Given the description of an element on the screen output the (x, y) to click on. 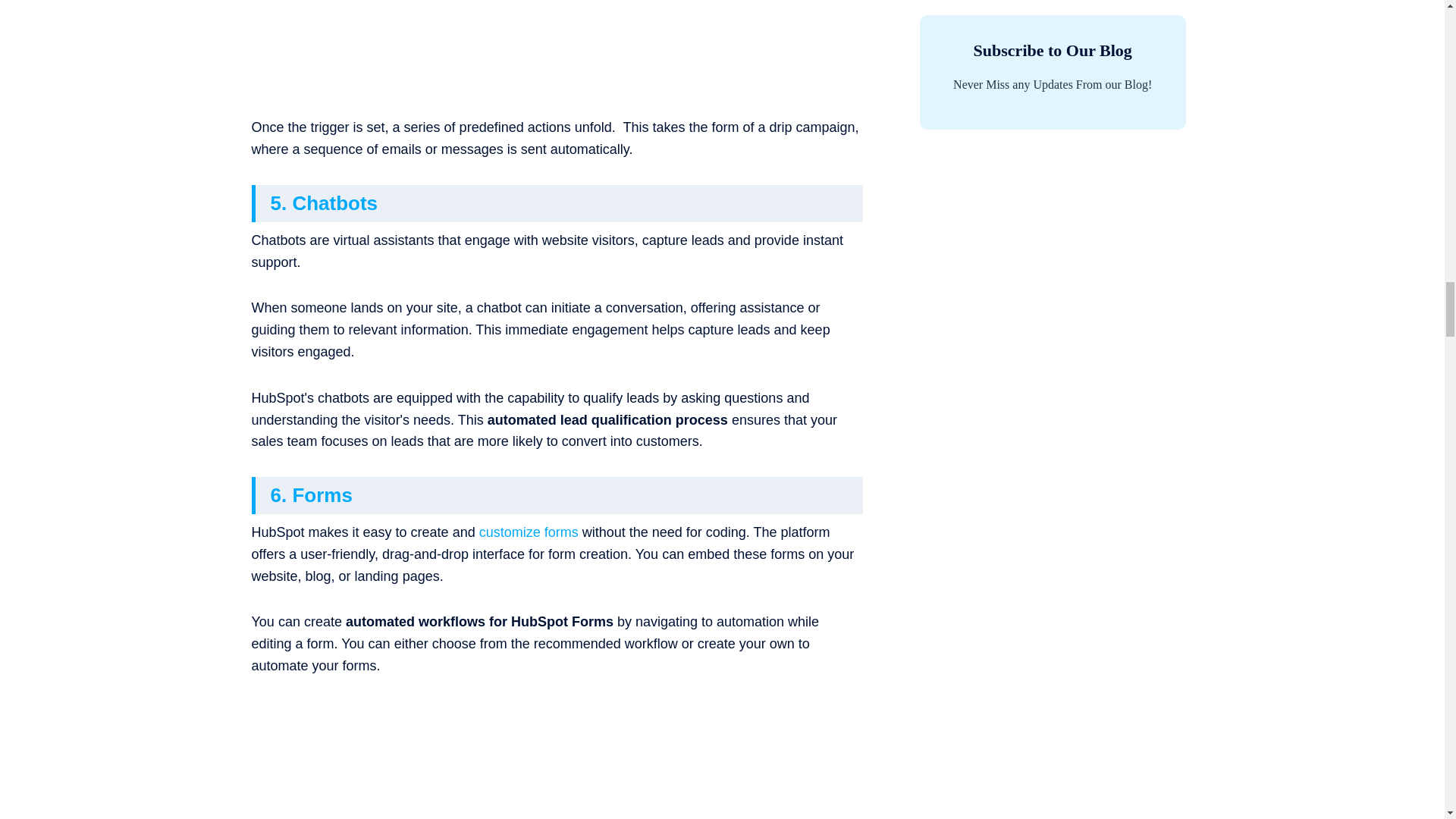
How to use automation with forms in HubSpot. (557, 760)
